Given the description of an element on the screen output the (x, y) to click on. 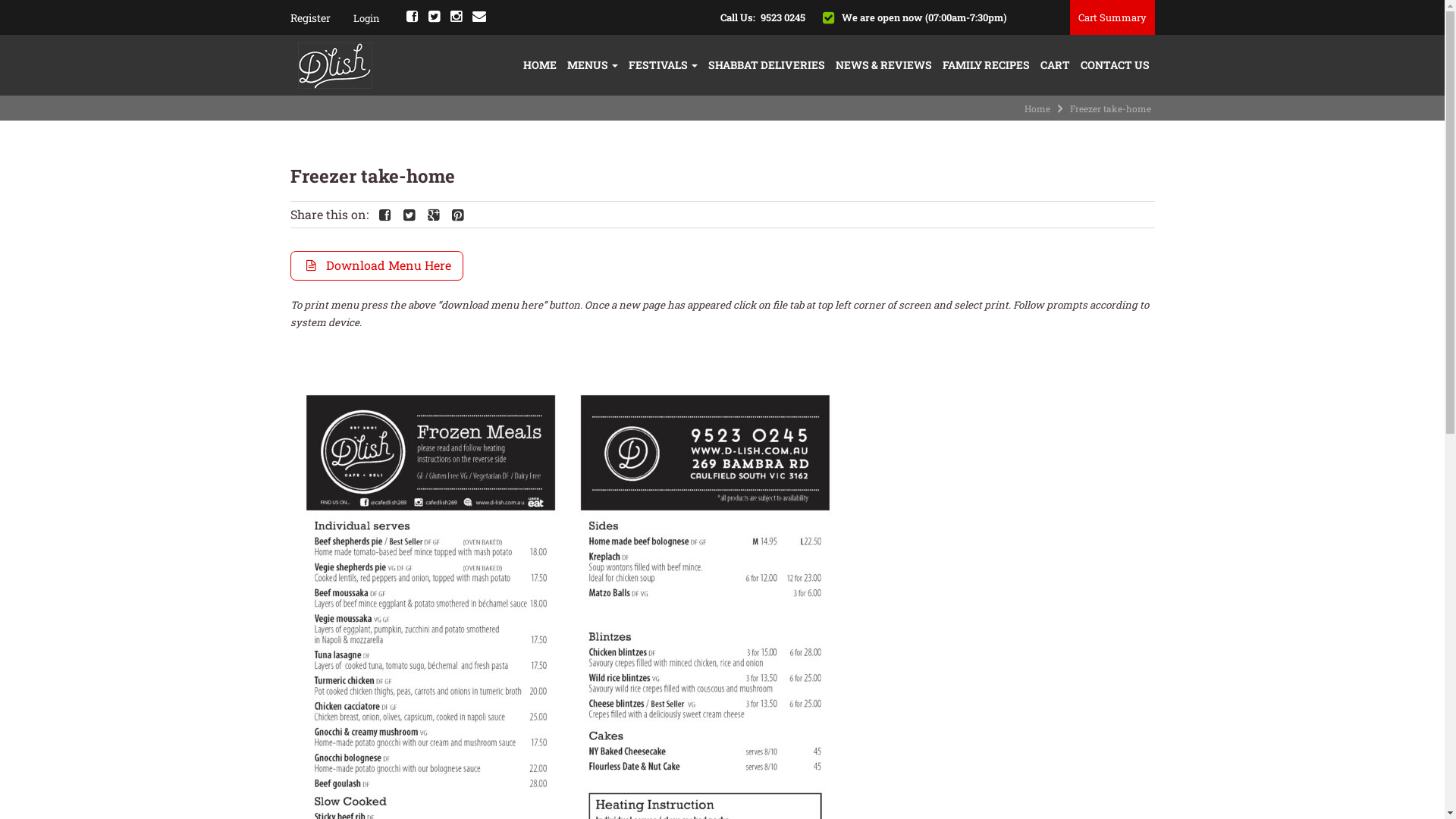
CONTACT US Element type: text (1114, 65)
CART Element type: text (1054, 65)
Freezer take-home Element type: text (371, 175)
9523 0245 Element type: text (781, 17)
Login Element type: text (394, 174)
FAMILY RECIPES Element type: text (986, 65)
Register Element type: text (338, 205)
HOME Element type: text (539, 65)
Register Element type: text (309, 17)
SHABBAT DELIVERIES Element type: text (765, 65)
MENUS Element type: text (591, 65)
Download Menu Here Element type: text (375, 265)
NEWS & REVIEWS Element type: text (882, 65)
Home Element type: text (1036, 108)
Login Element type: text (366, 18)
FESTIVALS Element type: text (662, 65)
